Given the description of an element on the screen output the (x, y) to click on. 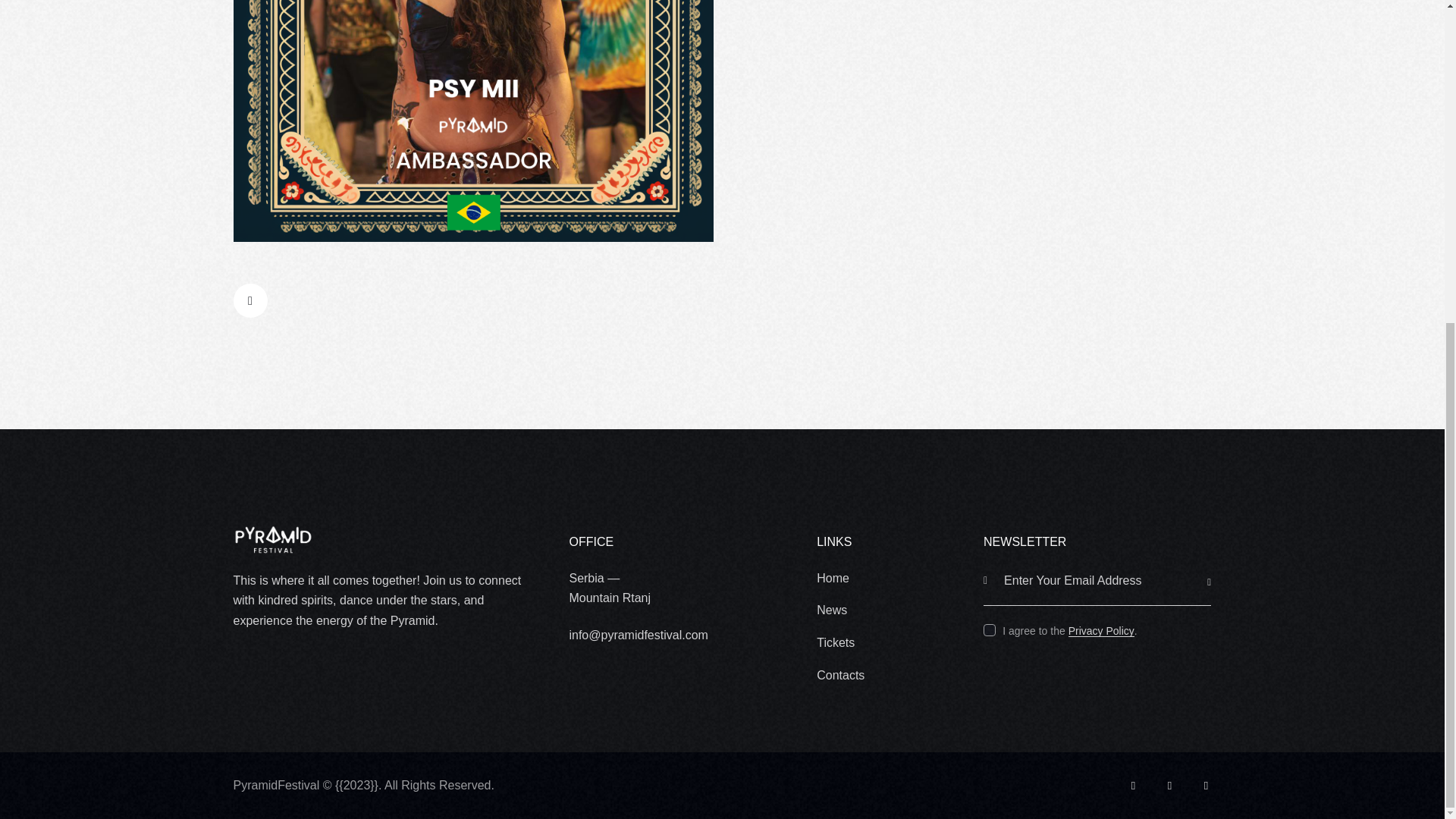
1 (1216, 561)
